Given the description of an element on the screen output the (x, y) to click on. 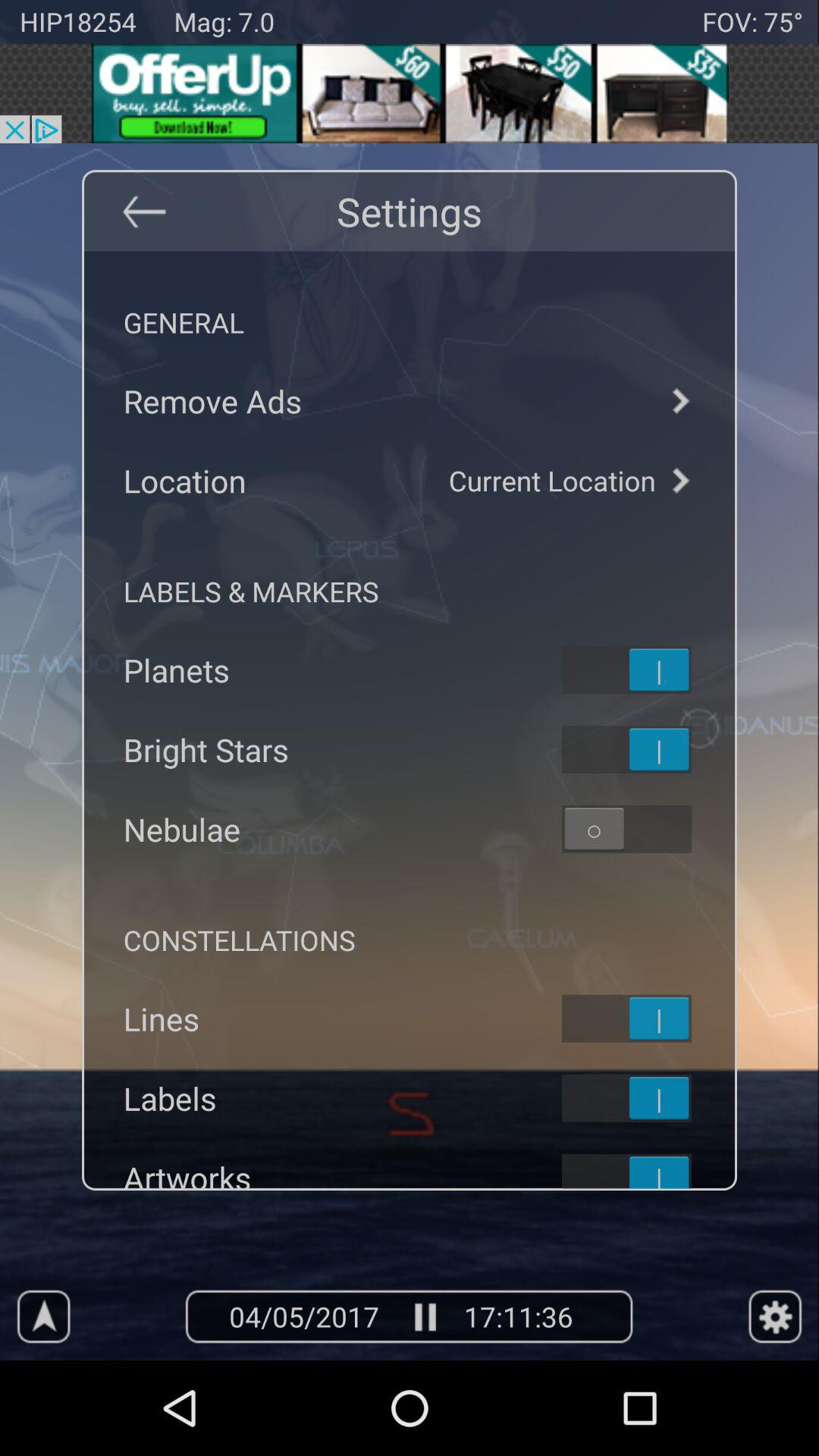
enable option (646, 829)
